Given the description of an element on the screen output the (x, y) to click on. 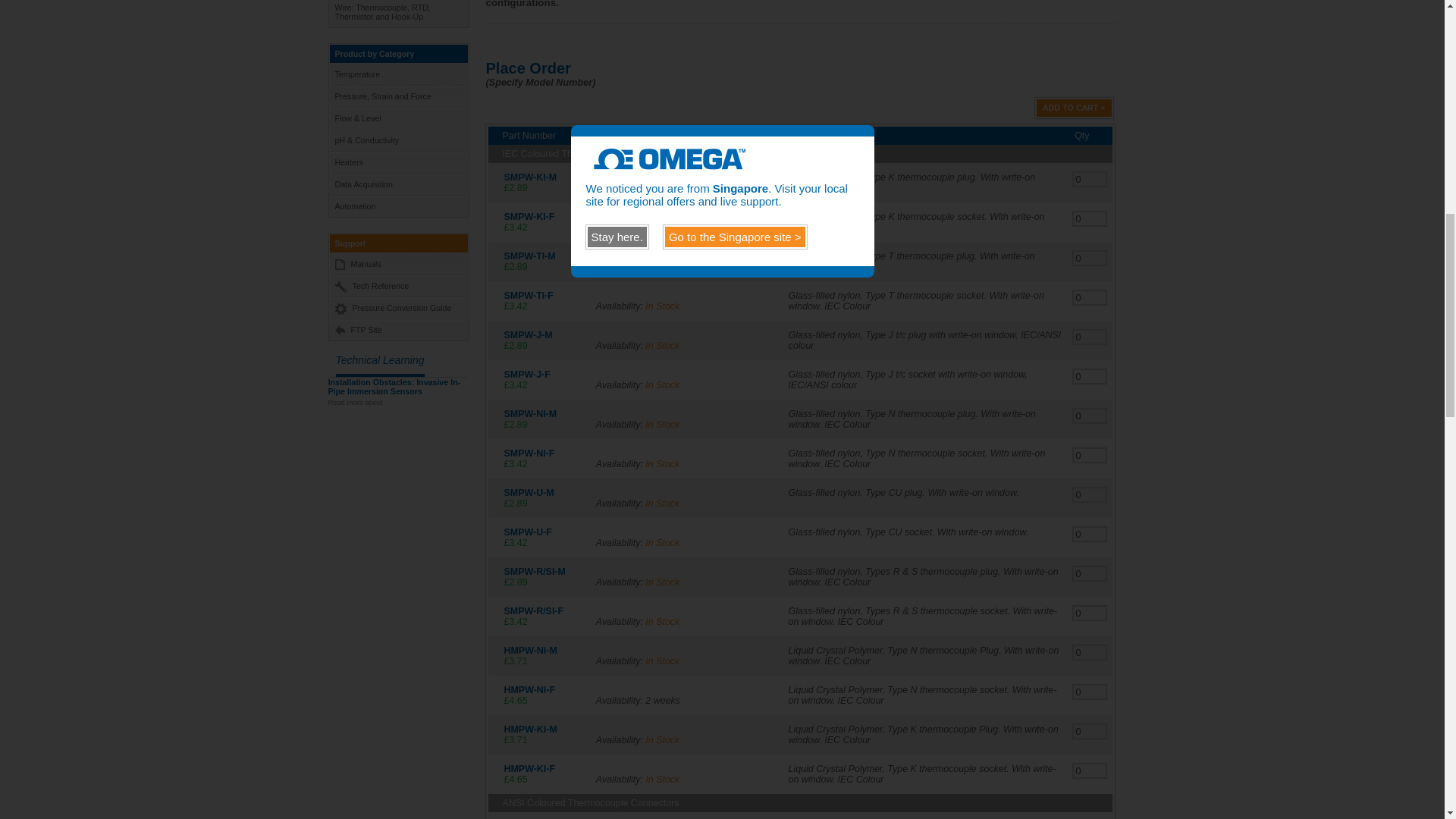
0 (1089, 454)
0 (1089, 257)
0 (1089, 494)
0 (1089, 730)
0 (1089, 297)
0 (1089, 691)
0 (1089, 178)
0 (1089, 534)
0 (1089, 652)
0 (1089, 612)
